Given the description of an element on the screen output the (x, y) to click on. 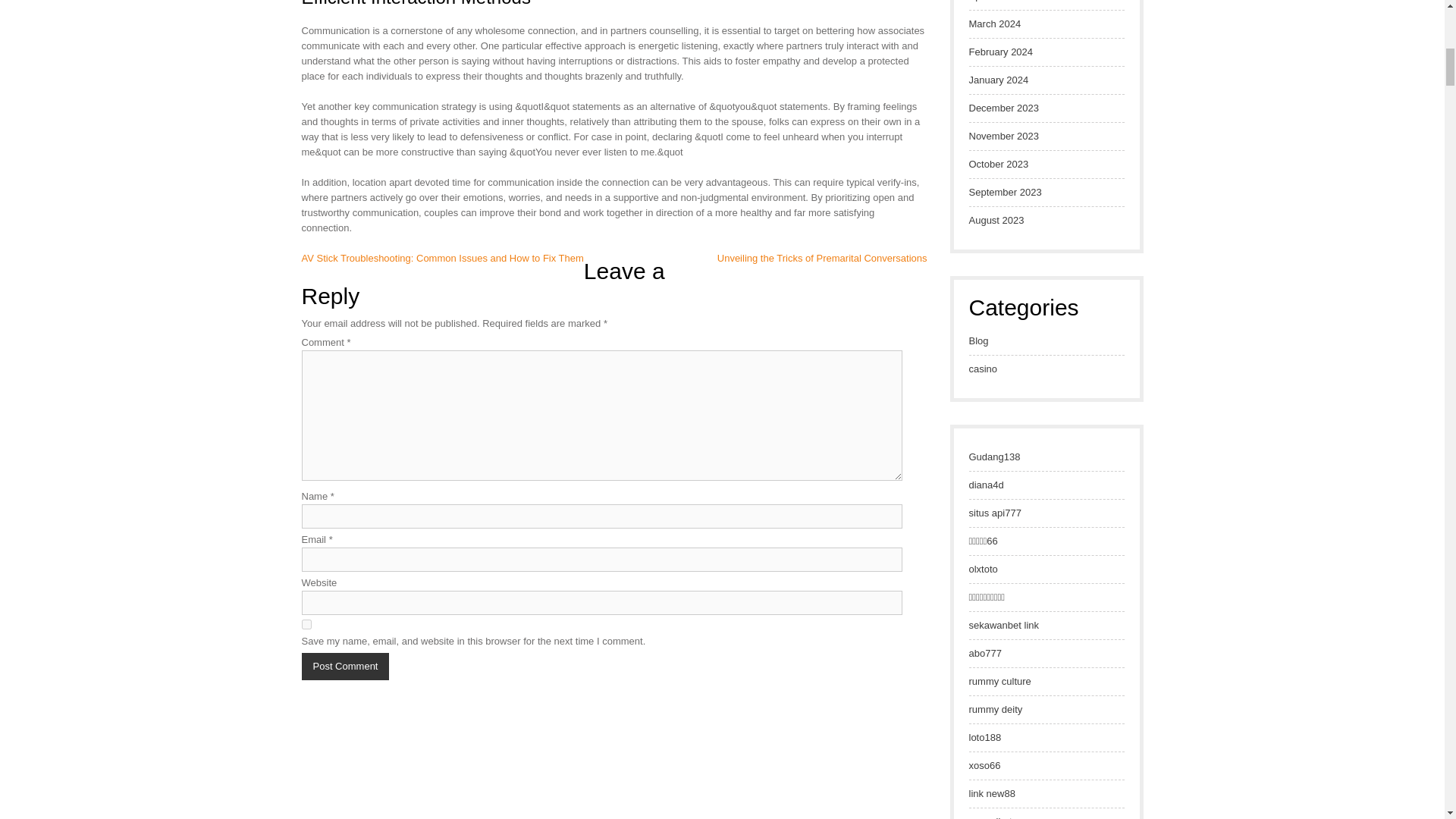
November 2023 (1004, 136)
olxtoto (983, 569)
abo777 (985, 653)
August 2023 (997, 220)
situs api777 (995, 513)
Unveiling the Tricks of Premarital Conversations (822, 257)
rummy culture (999, 681)
September 2023 (1005, 192)
December 2023 (1004, 108)
Post Comment (345, 666)
AV Stick Troubleshooting: Common Issues and How to Fix Them (442, 257)
October 2023 (999, 164)
March 2024 (995, 23)
February 2024 (1001, 52)
casino (983, 368)
